Given the description of an element on the screen output the (x, y) to click on. 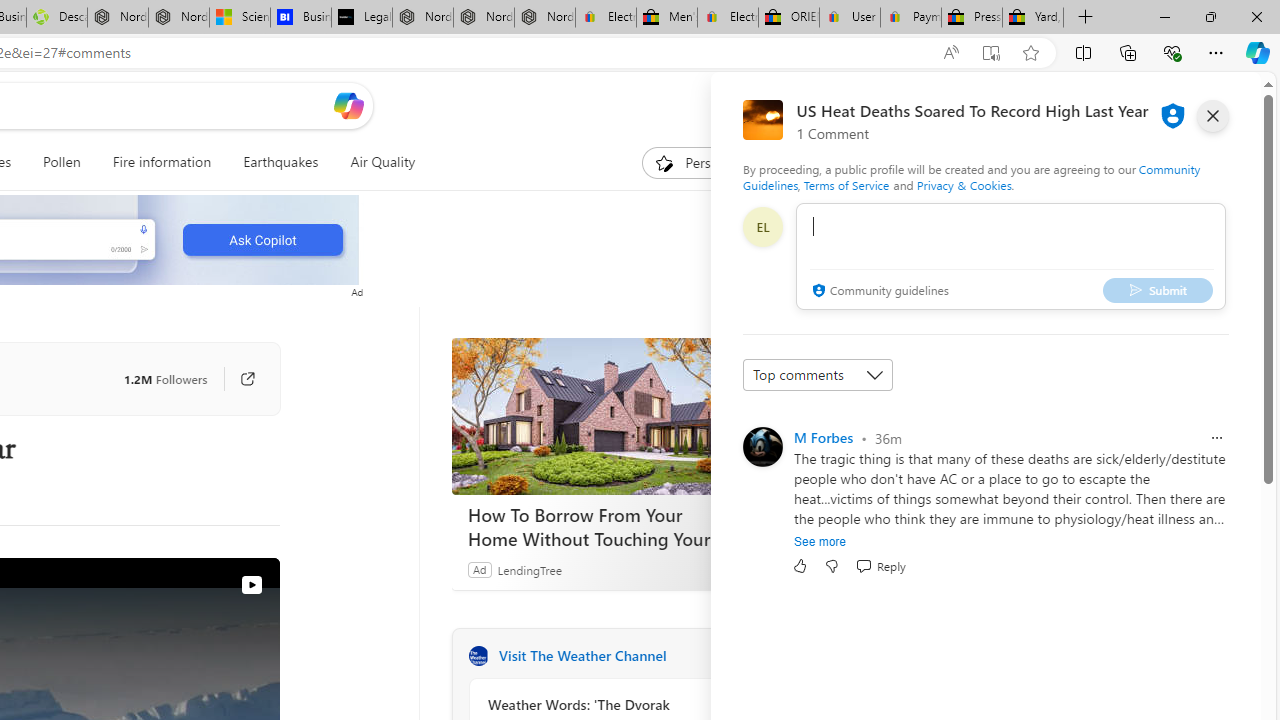
Split screen (1083, 52)
Earthquakes (280, 162)
Reply Reply Comment (880, 565)
Nordace - Summer Adventures 2024 (118, 17)
The Weather Channel (478, 655)
Profile Picture (762, 446)
Sort comments by (817, 374)
To get missing image descriptions, open the context menu. (664, 162)
View on Watch View on Watch (205, 584)
How To Borrow From Your Home Without Touching Your Mortgage (601, 416)
close (1212, 115)
Submit (1158, 290)
